Given the description of an element on the screen output the (x, y) to click on. 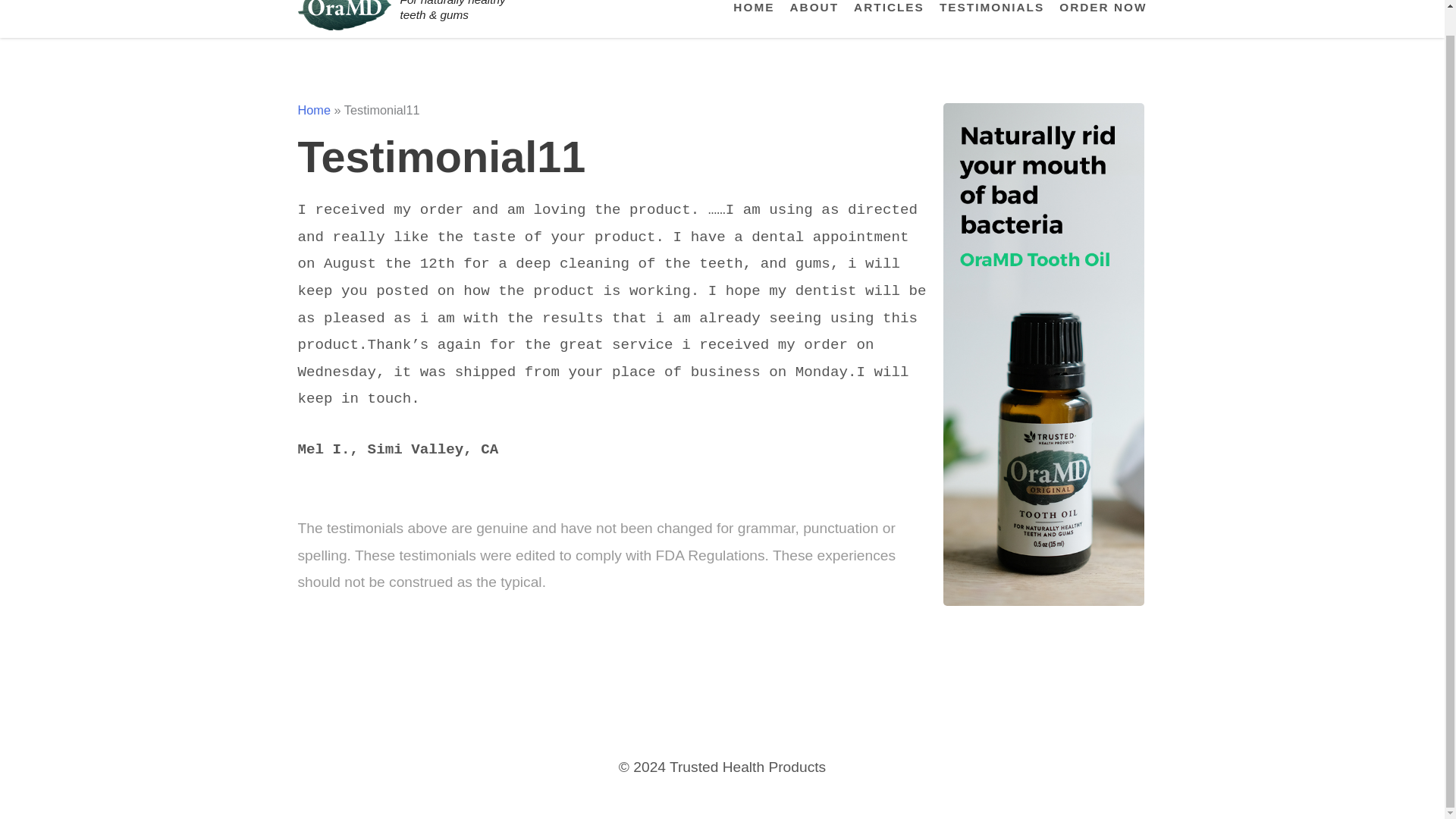
ORDER NOW (1103, 9)
HOME (753, 9)
ABOUT (813, 9)
ARTICLES (888, 9)
TESTIMONIALS (991, 9)
